Given the description of an element on the screen output the (x, y) to click on. 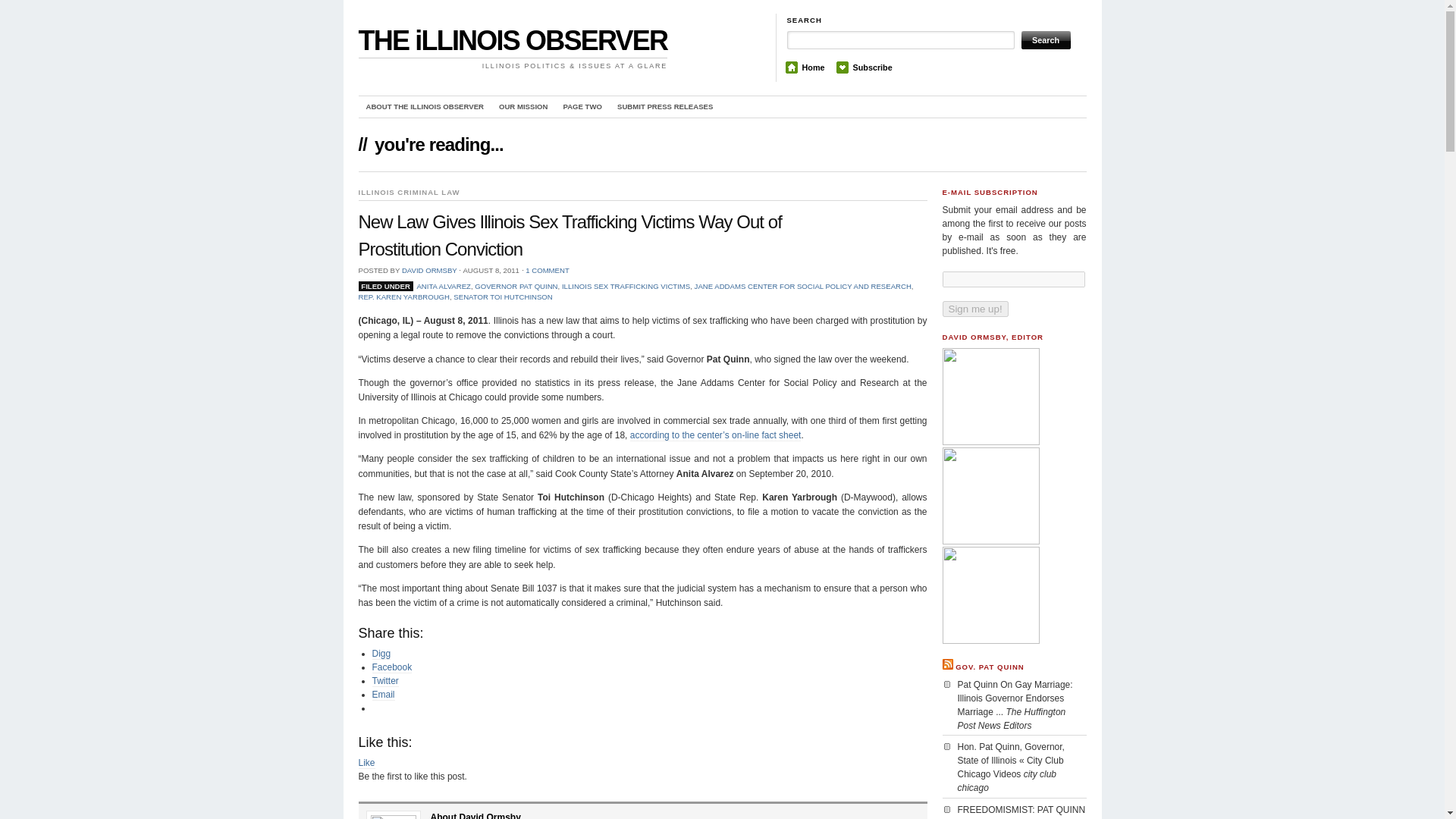
Click to Digg this post (380, 654)
Like (366, 763)
1 COMMENT (547, 270)
JANE ADDAMS CENTER FOR SOCIAL POLICY AND RESEARCH (802, 285)
ILLINOIS CRIMINAL LAW (409, 192)
Search (1045, 40)
Search (1045, 40)
DAVID ORMSBY (429, 270)
View all posts in Illinois Criminal Law (409, 192)
Digg (380, 654)
Facebook (391, 667)
ANITA ALVAREZ (443, 285)
Home (813, 67)
Click to email this to a friend (382, 695)
